Given the description of an element on the screen output the (x, y) to click on. 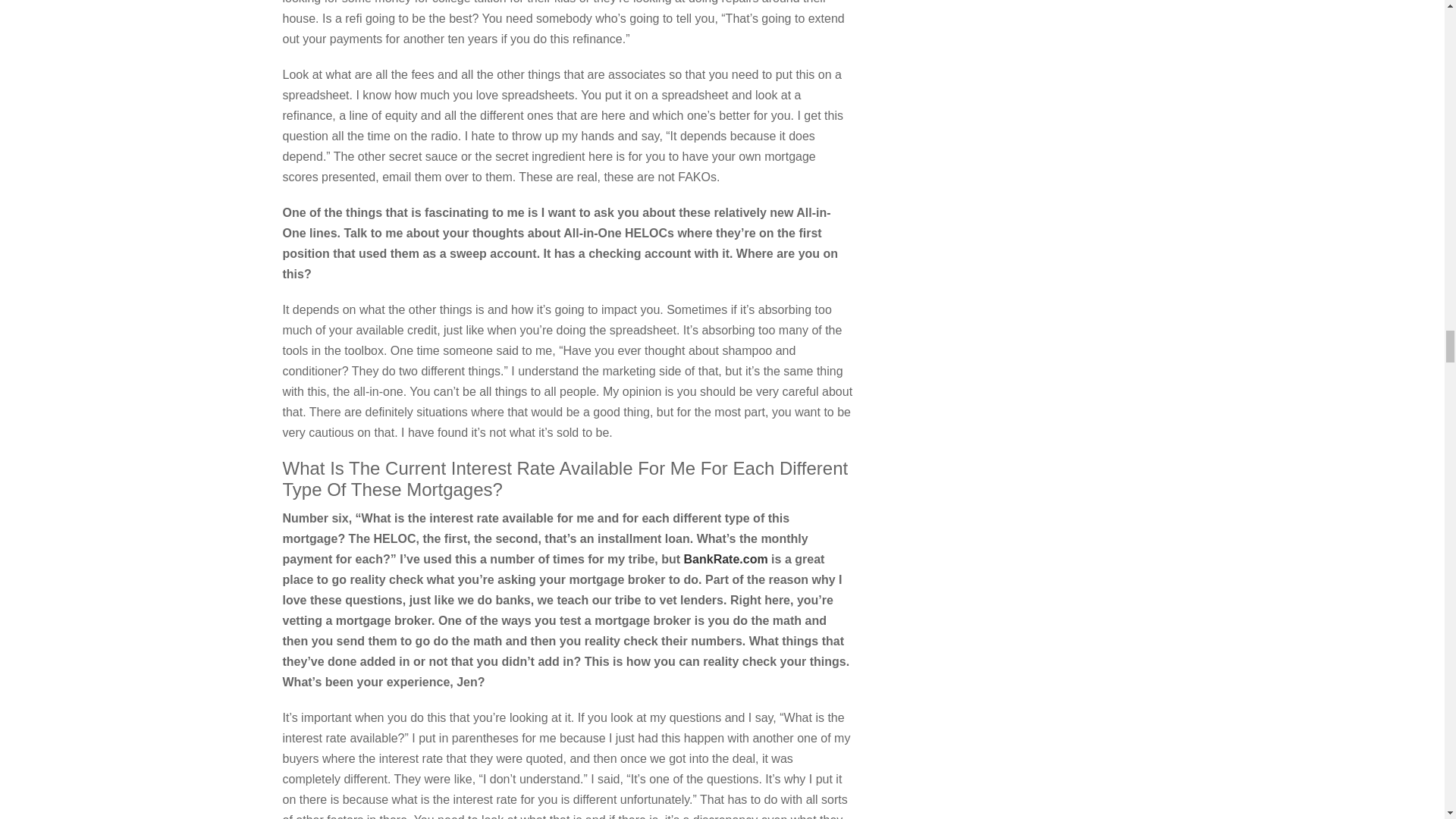
BankRate.com (726, 558)
